Given the description of an element on the screen output the (x, y) to click on. 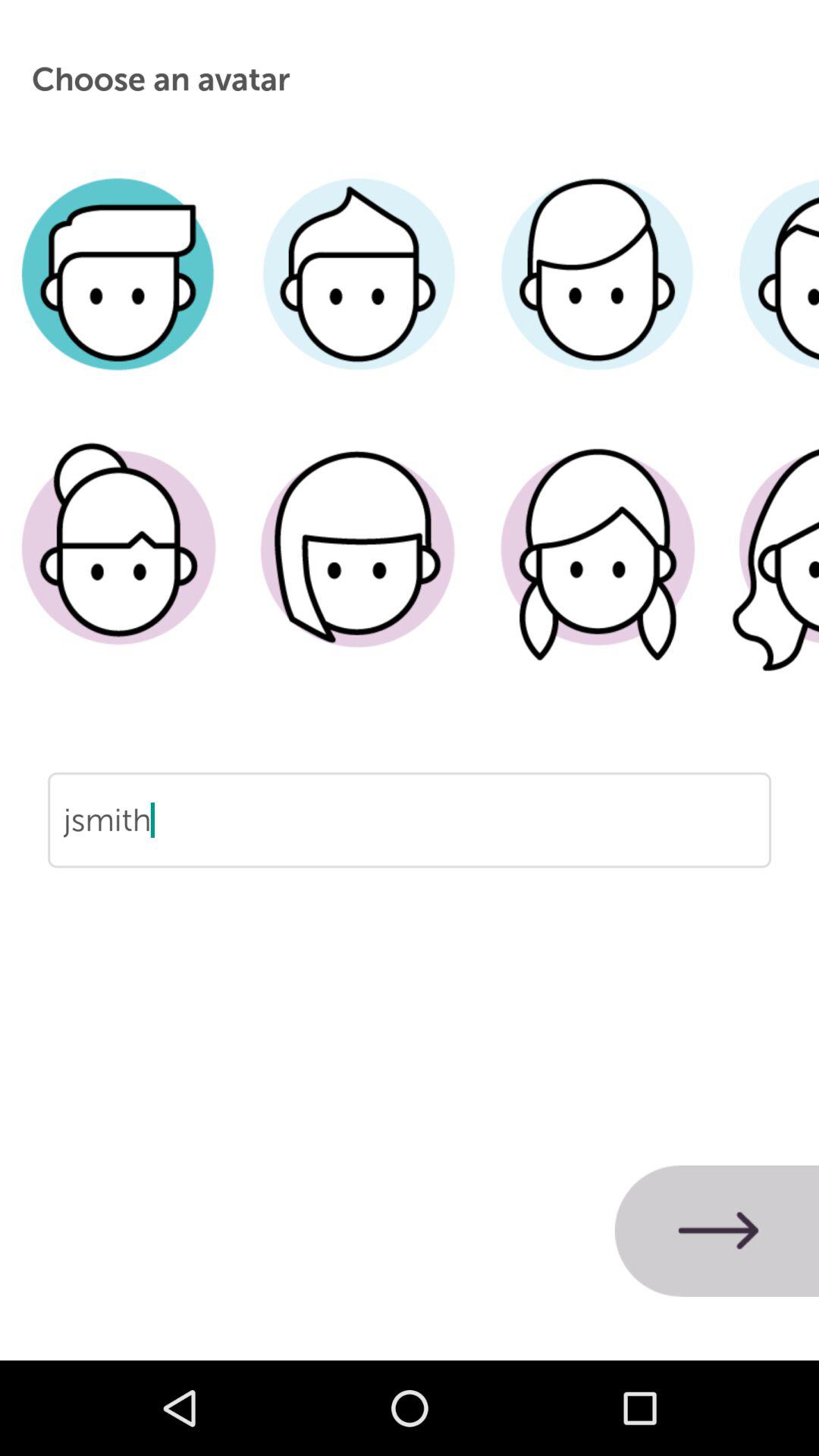
female avatar with long hair on one side (357, 570)
